Given the description of an element on the screen output the (x, y) to click on. 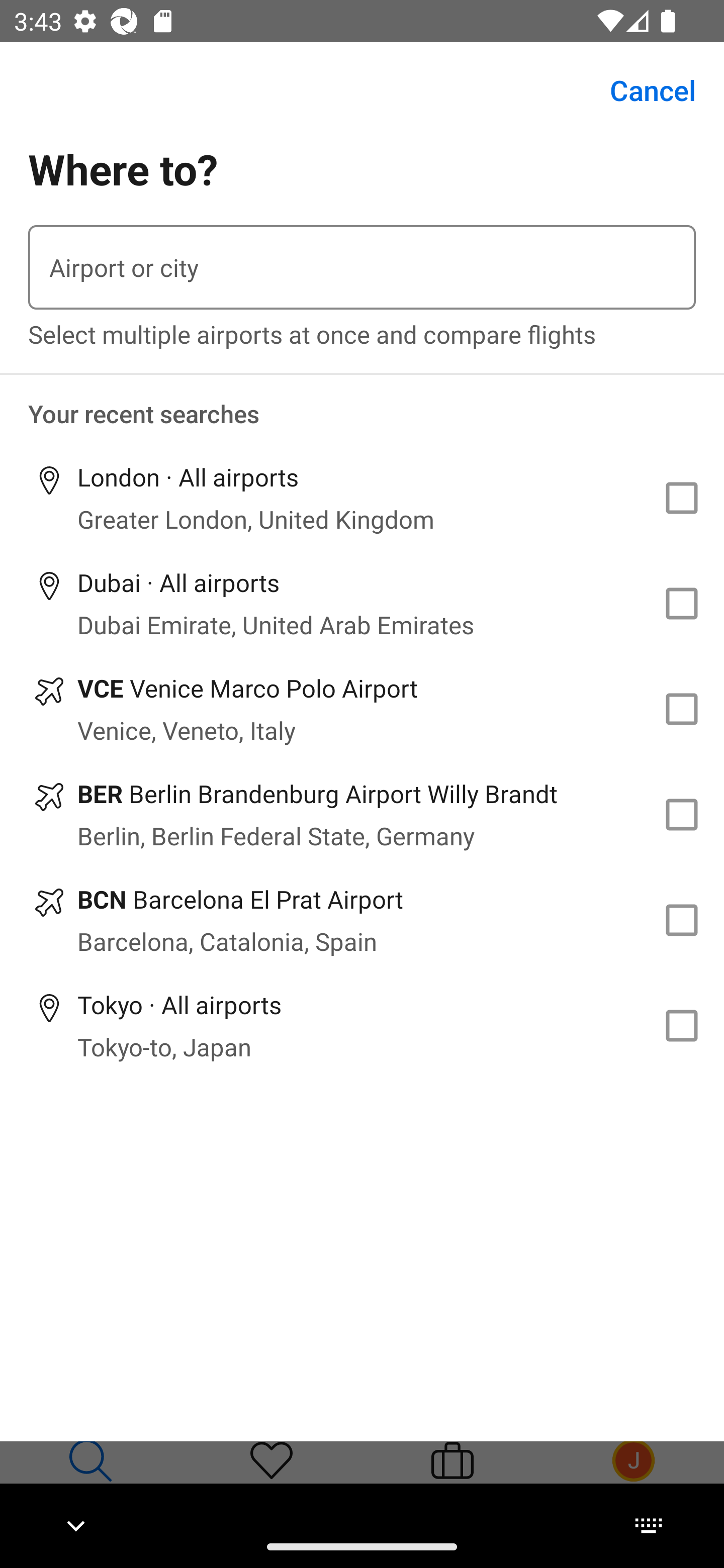
Cancel (641, 90)
Airport or city (361, 266)
Tokyo · All airports Tokyo-to, Japan (362, 1025)
